Given the description of an element on the screen output the (x, y) to click on. 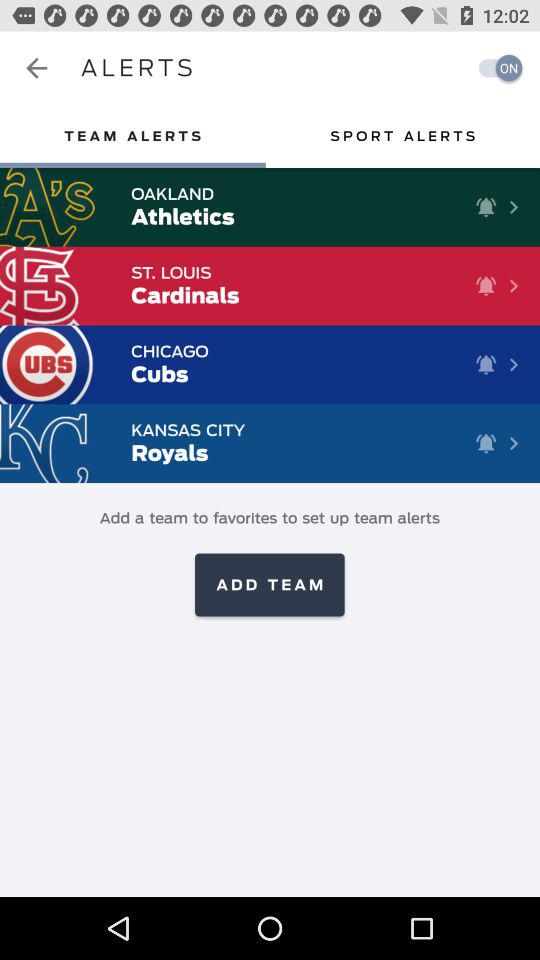
tap app to the left of the alerts icon (36, 68)
